Given the description of an element on the screen output the (x, y) to click on. 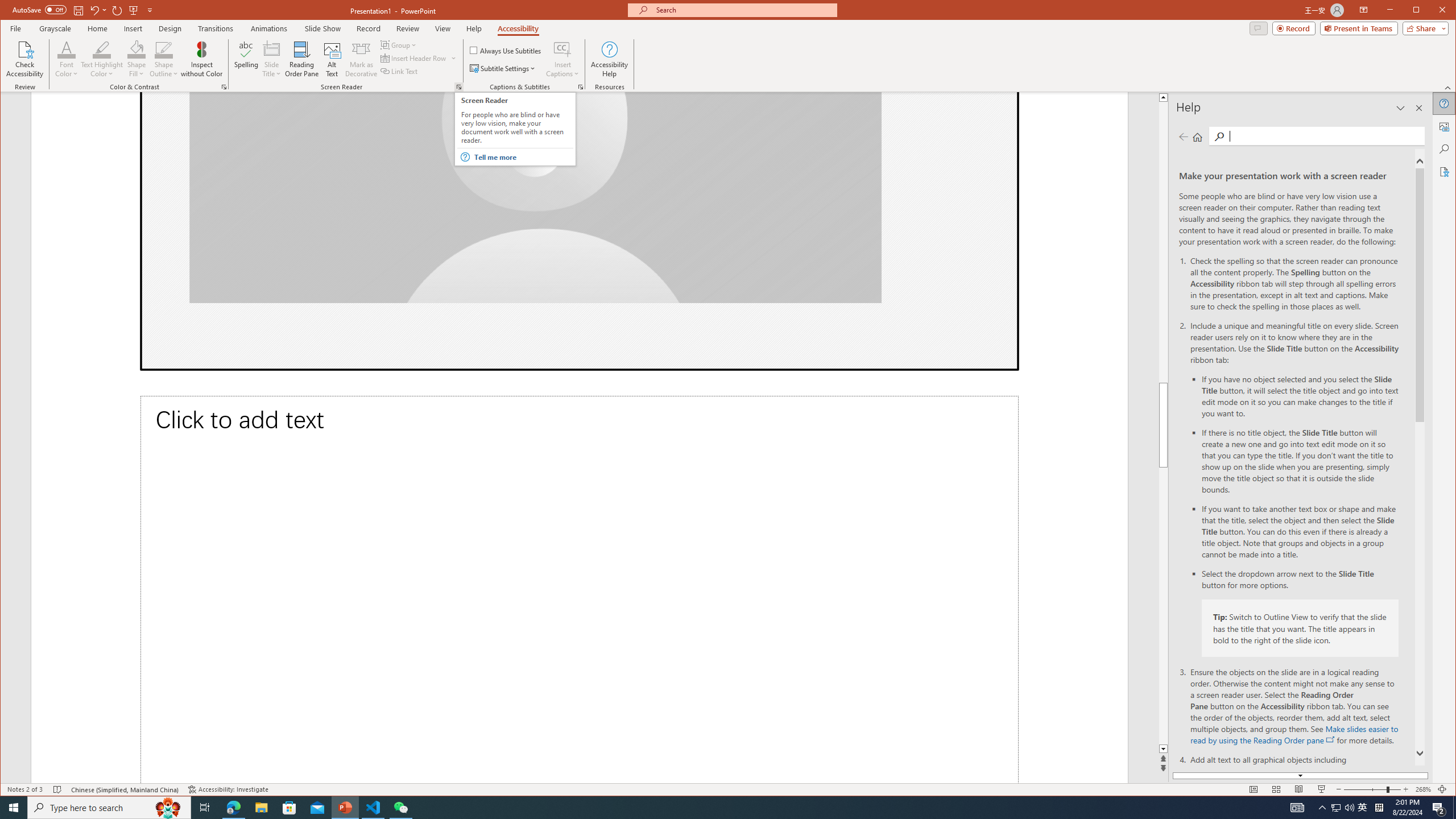
Running applications (707, 807)
Shape Outline (163, 59)
Spelling... (246, 59)
